Given the description of an element on the screen output the (x, y) to click on. 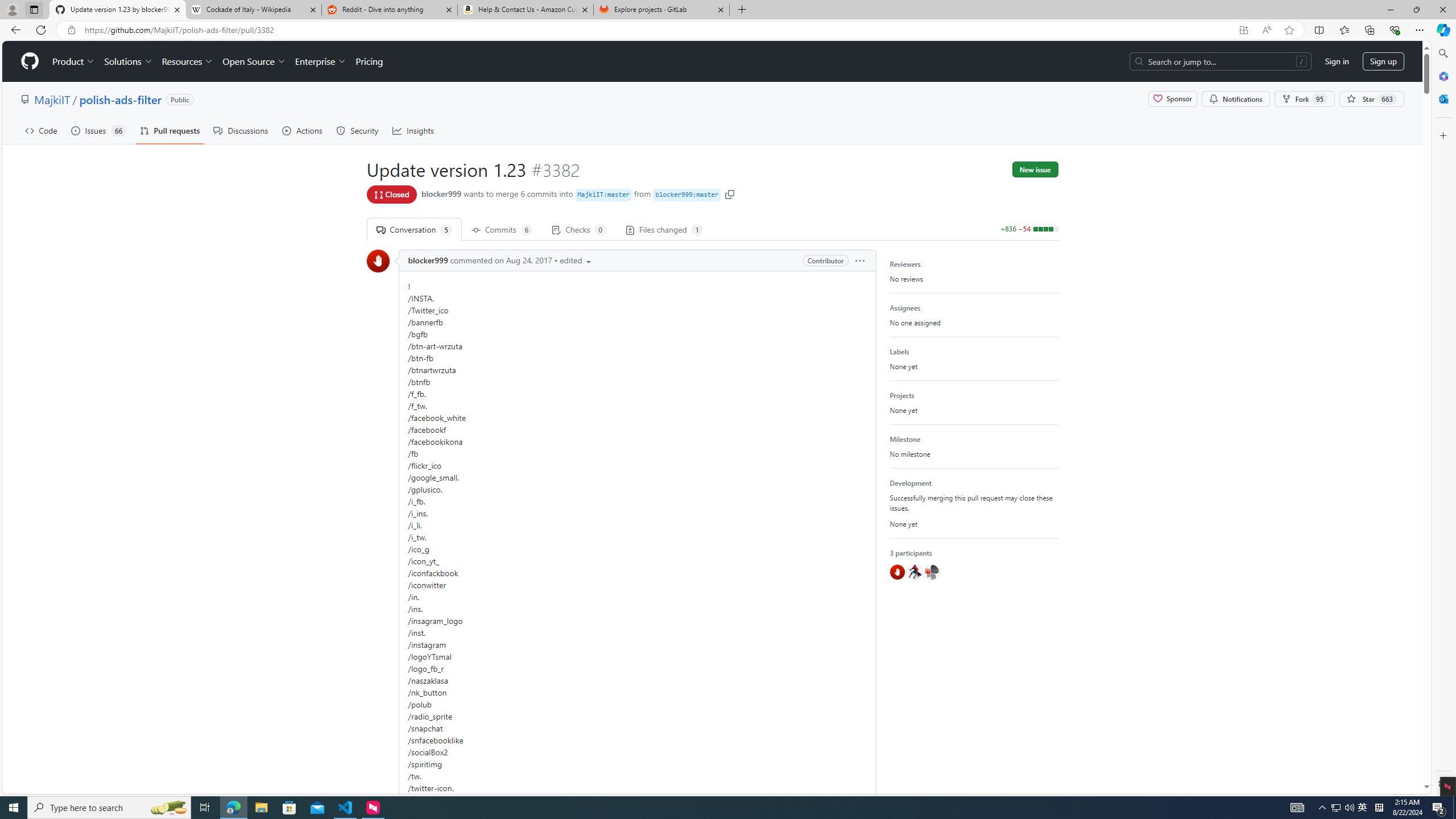
Sponsor (1171, 98)
